Given the description of an element on the screen output the (x, y) to click on. 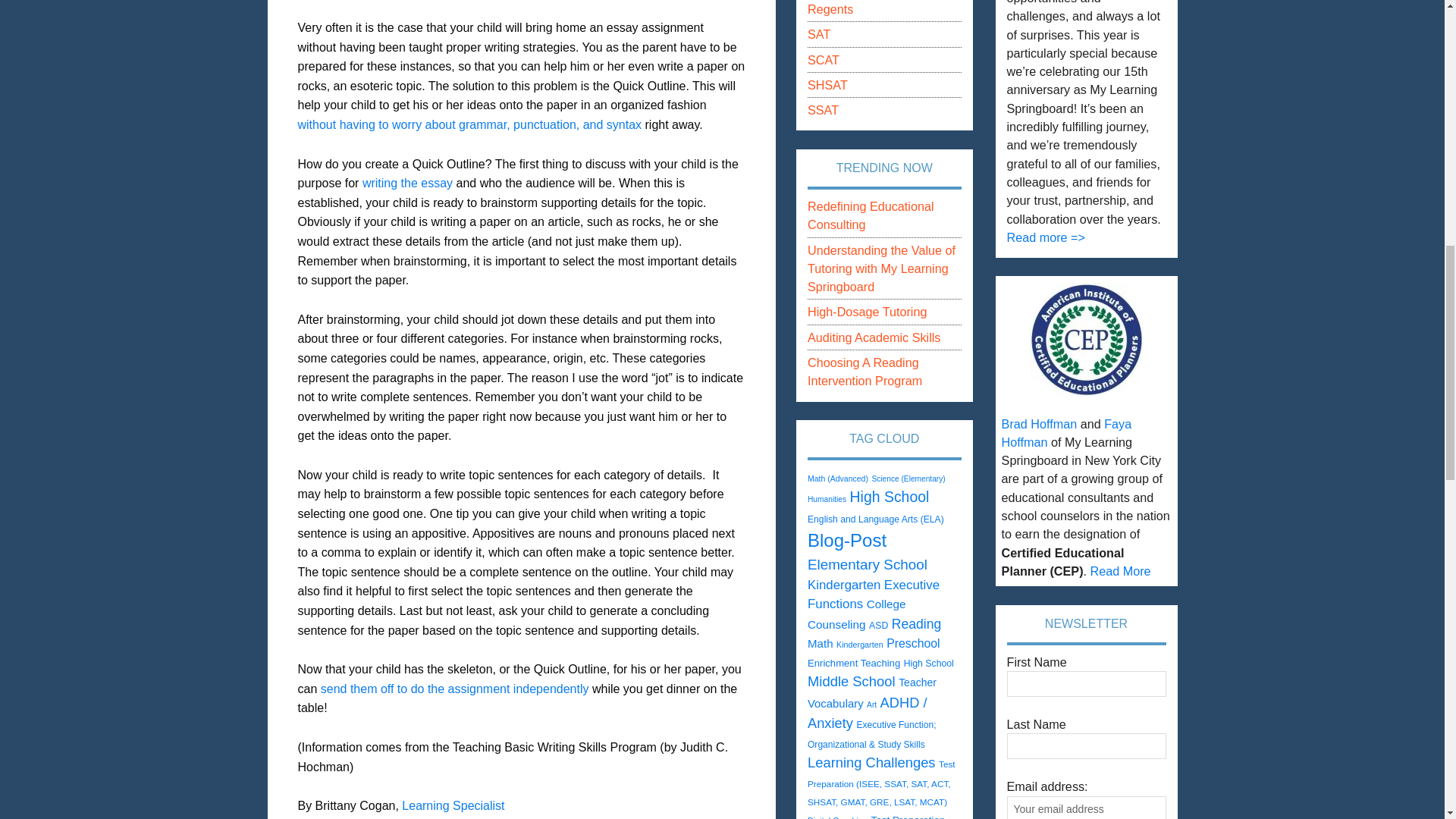
285 topics (890, 496)
Learning Specialist (452, 805)
411 topics (847, 539)
29 topics (907, 479)
38 topics (837, 478)
84 topics (875, 519)
268 topics (867, 564)
writing the essay (407, 182)
30 topics (826, 499)
